Given the description of an element on the screen output the (x, y) to click on. 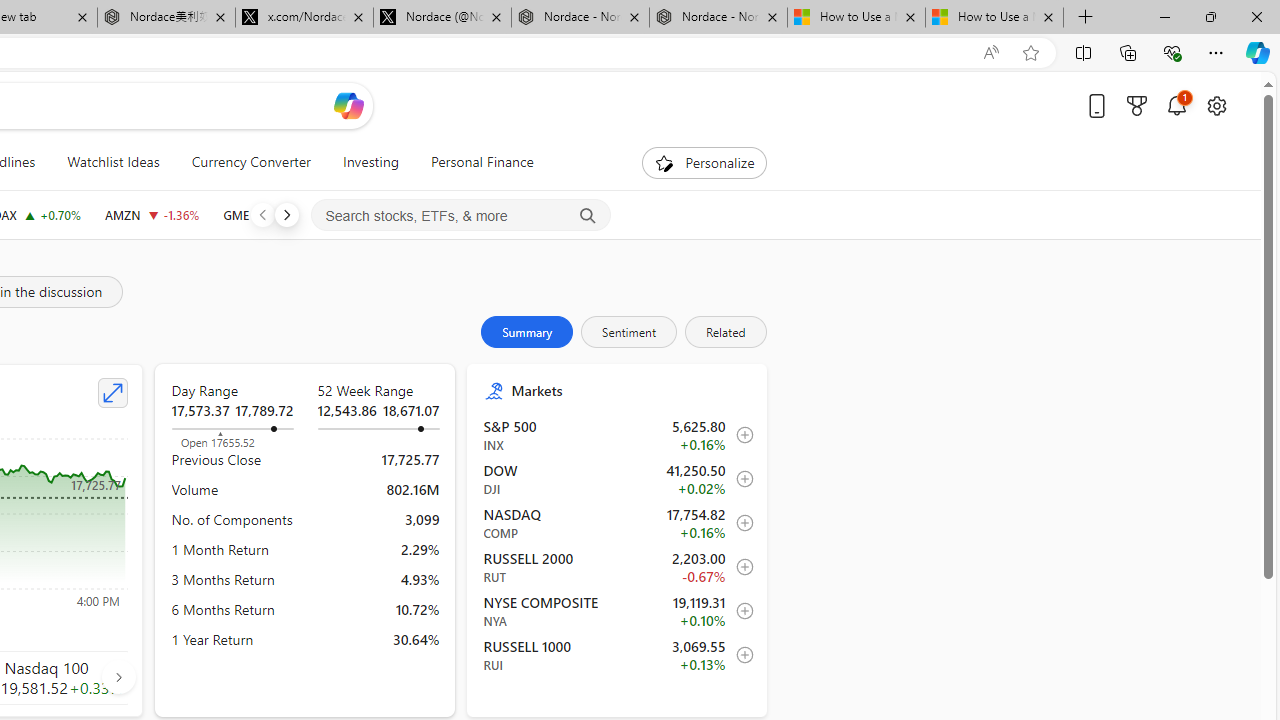
Summary (527, 331)
Watchlist Ideas (113, 162)
Sentiment (629, 331)
Related (724, 331)
Personal Finance (473, 162)
Investing (370, 162)
AutomationID: finance_carousel_navi_right (118, 677)
